Given the description of an element on the screen output the (x, y) to click on. 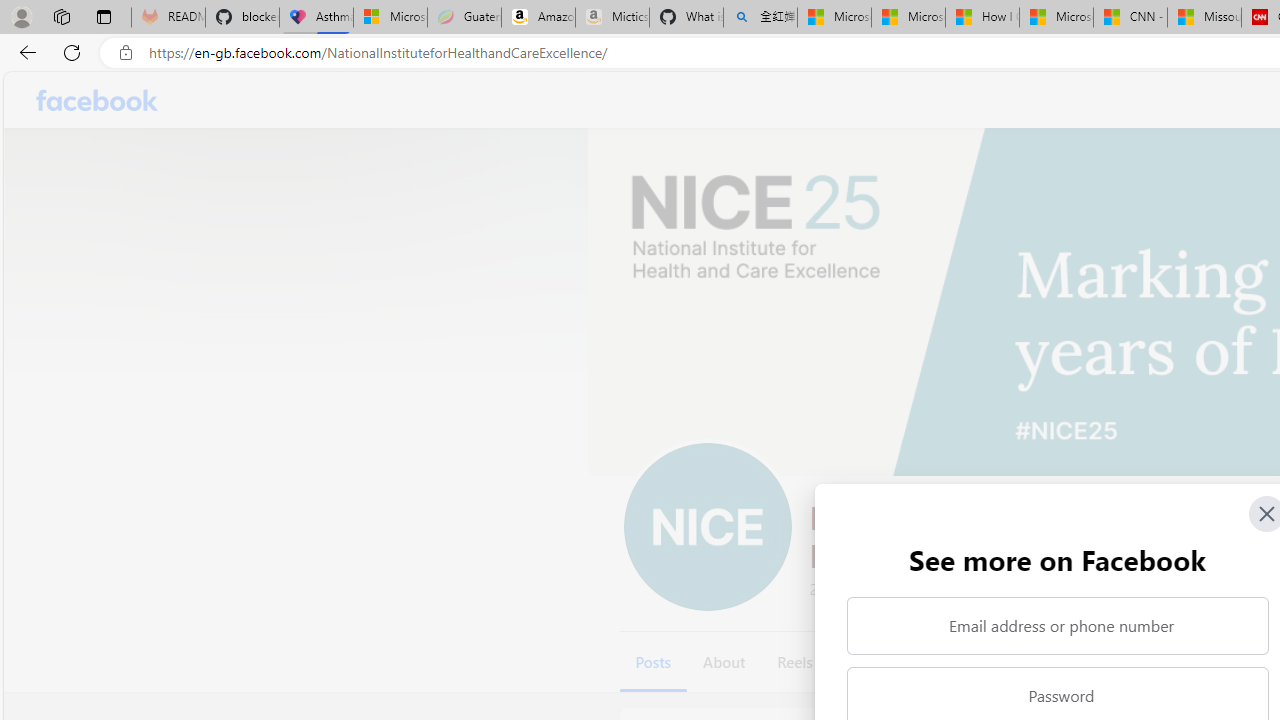
CNN - MSN (1130, 17)
Facebook (97, 99)
